Given the description of an element on the screen output the (x, y) to click on. 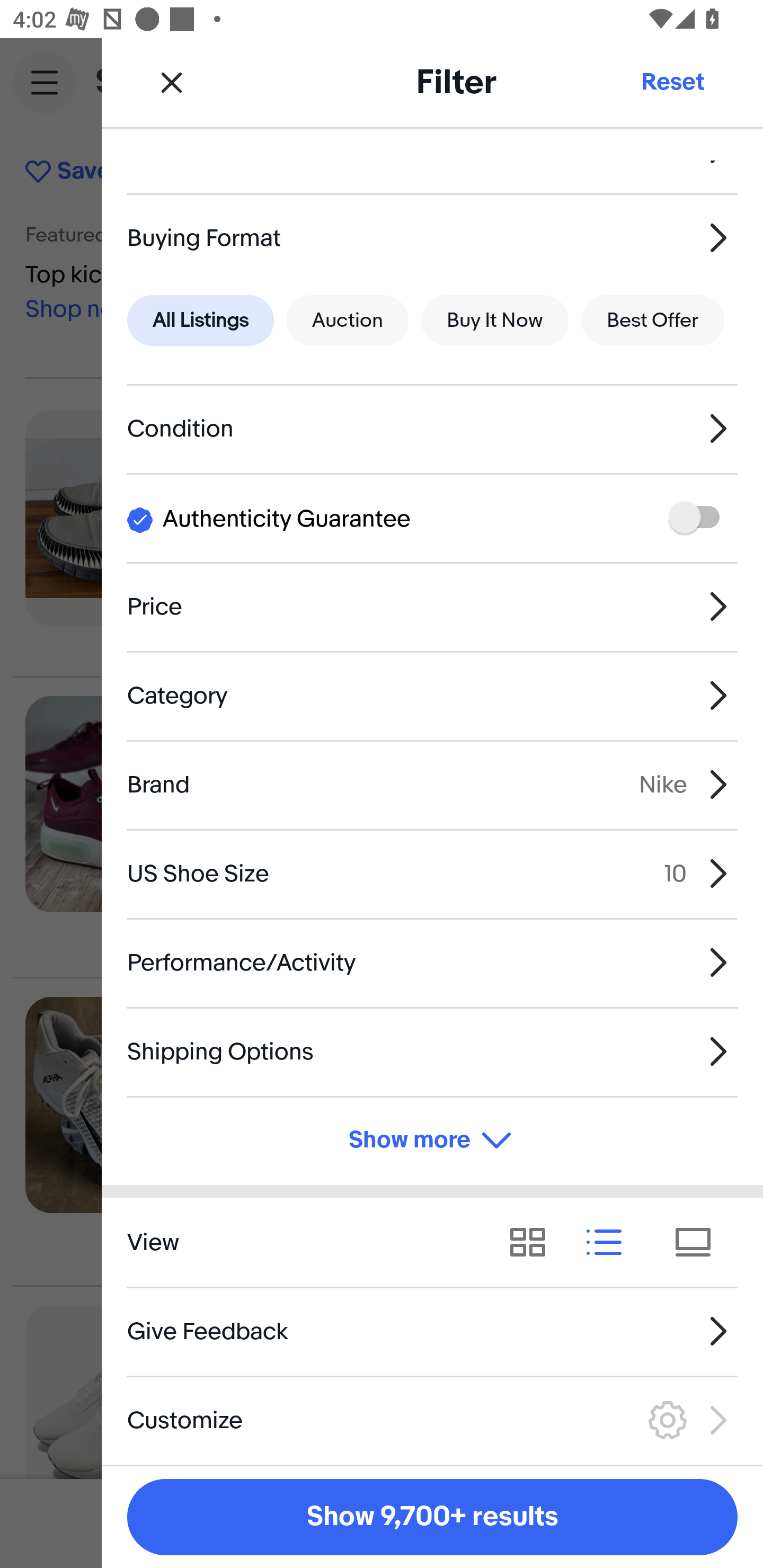
Close Filter (171, 81)
Reset (672, 81)
Buying Format (432, 237)
All Listings (200, 320)
Auction (347, 320)
Buy It Now (494, 320)
Best Offer (652, 320)
Condition (432, 428)
I  Authenticity Guarantee (432, 517)
Price (432, 605)
Category (432, 695)
Brand Nike (432, 784)
US Shoe Size 10 (432, 873)
Performance/Activity (432, 961)
Shipping Options (432, 1051)
Show more (432, 1140)
View results as grid (533, 1242)
View results as list (610, 1242)
View results as tiles (699, 1242)
Customize (432, 1419)
Show 9,700+ results (432, 1516)
